Given the description of an element on the screen output the (x, y) to click on. 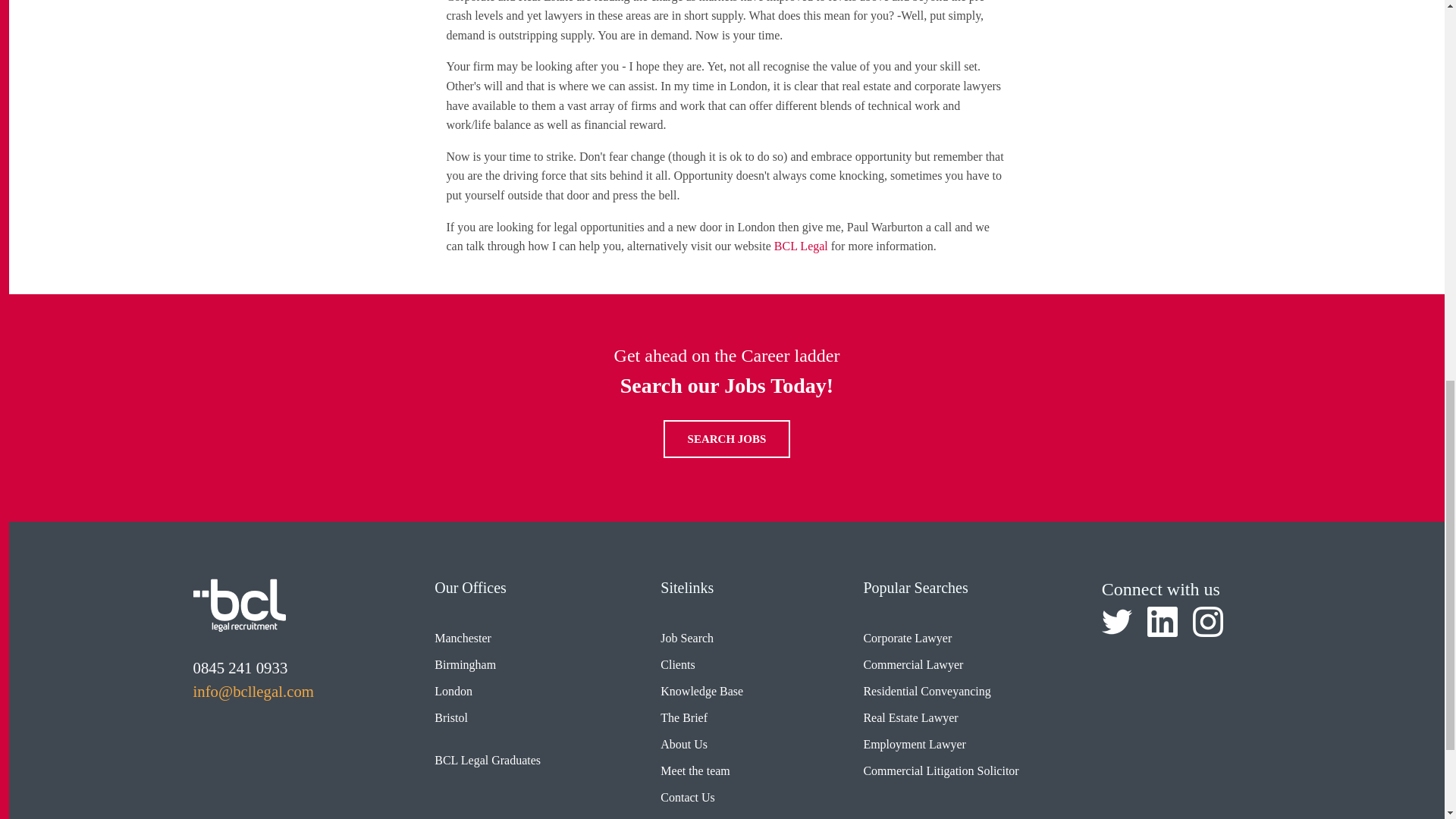
BCL Legal on LinkedIn (1162, 621)
BCL Legal on Instagram (1207, 621)
BCL Legal on Twitter (1117, 621)
BCL Legal Recruitment (238, 604)
